Given the description of an element on the screen output the (x, y) to click on. 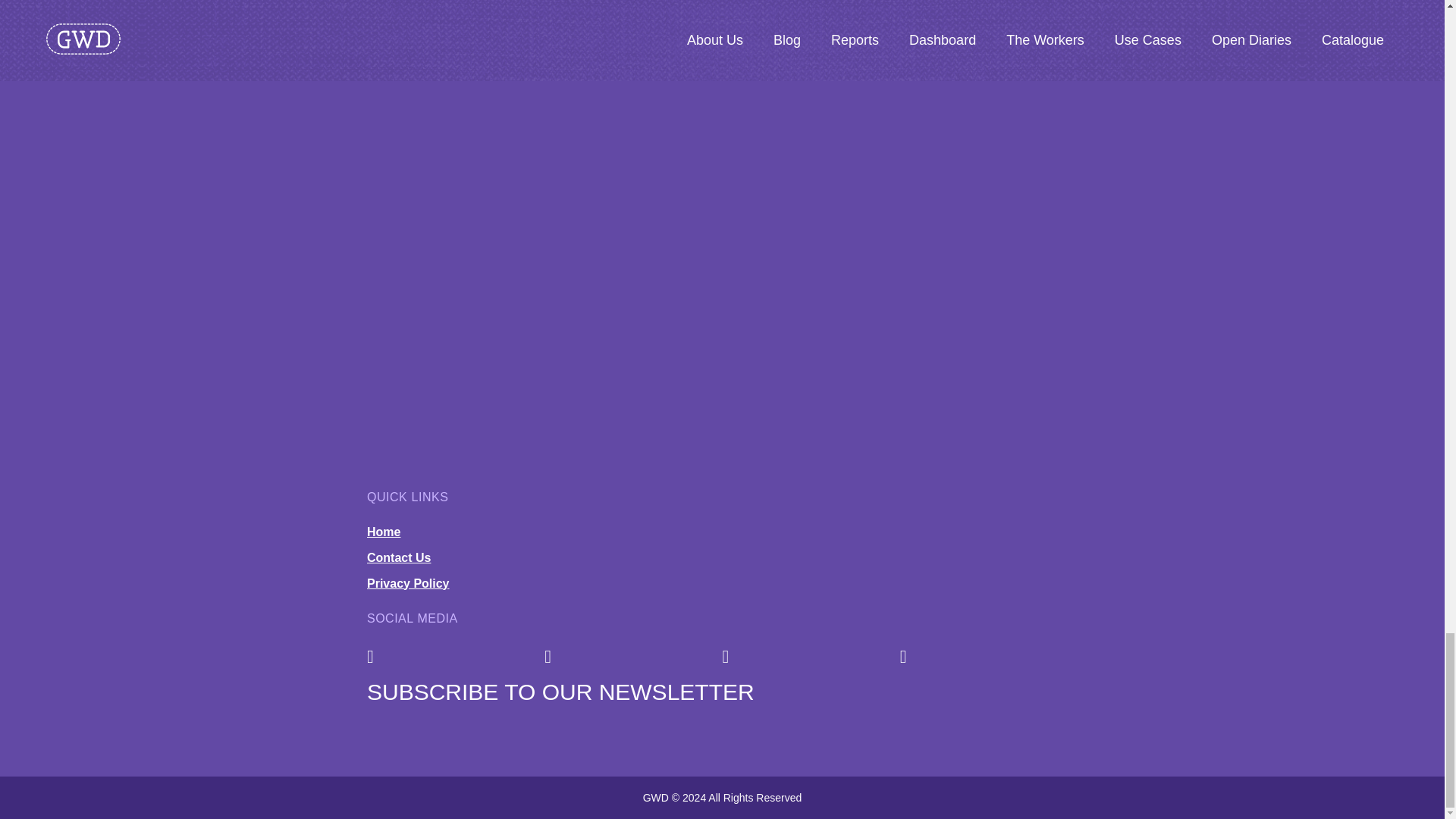
Home (383, 531)
Contact Us (398, 557)
Privacy Policy (407, 583)
